Given the description of an element on the screen output the (x, y) to click on. 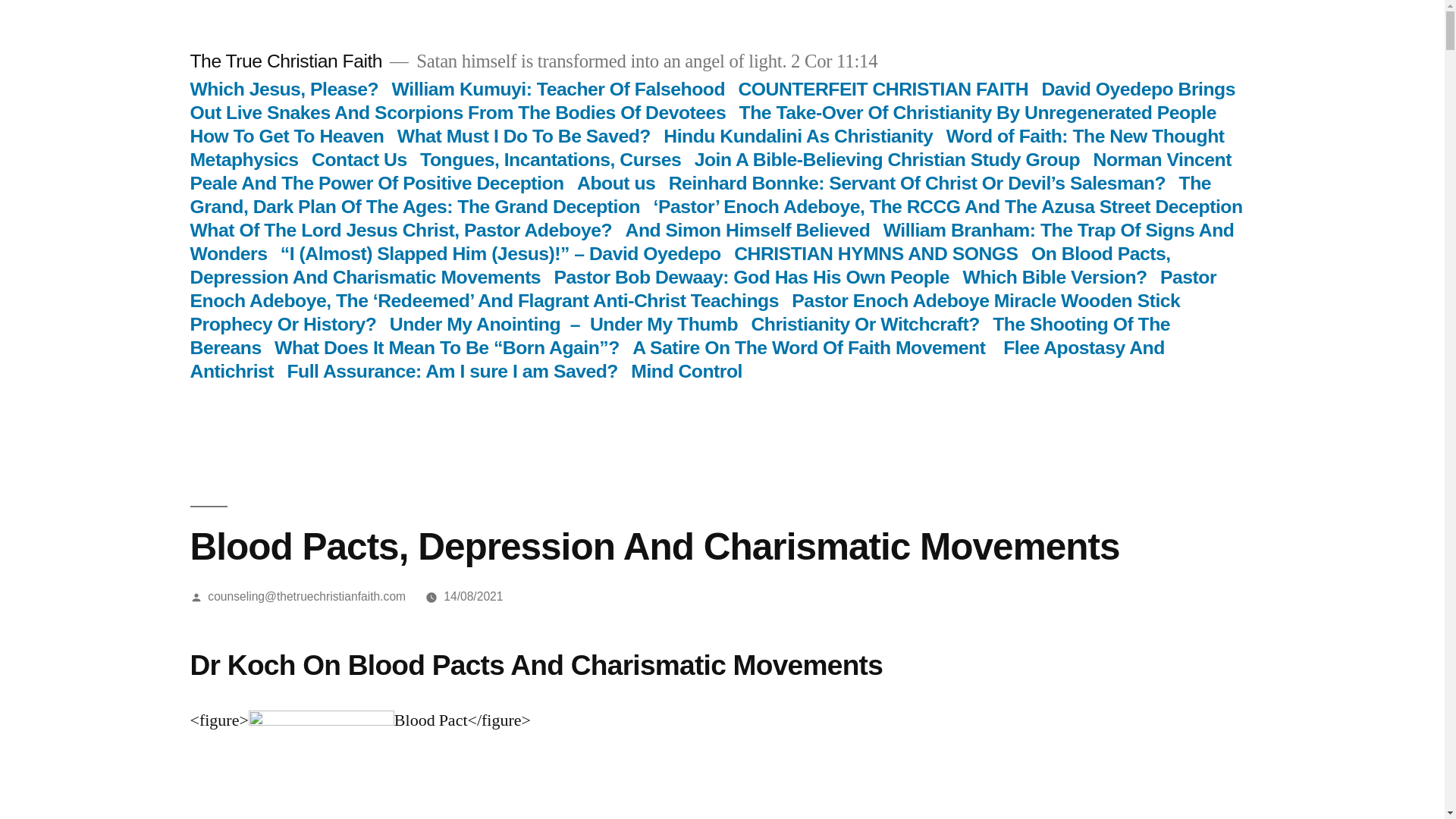
What Must I Do To Be Saved? (523, 136)
Contact Us (359, 159)
Word of Faith: The New Thought Metaphysics (706, 147)
Pastor Enoch Adeboye Miracle Wooden Stick (985, 300)
William Kumuyi: Teacher Of Falsehood (558, 88)
William Branham: The Trap Of Signs And Wonders (711, 241)
Tongues, Incantations, Curses (550, 159)
The Take-Over Of Christianity By Unregenerated People (977, 112)
And Simon Himself Believed (748, 230)
Full Assurance: Am I sure I am Saved? (451, 371)
Pastor Bob Dewaay: God Has His Own People (752, 276)
COUNTERFEIT CHRISTIAN FAITH (882, 88)
Flee Apostasy And Antichrist (676, 359)
The Shooting Of The Bereans (679, 335)
Prophecy Or History? (282, 323)
